Given the description of an element on the screen output the (x, y) to click on. 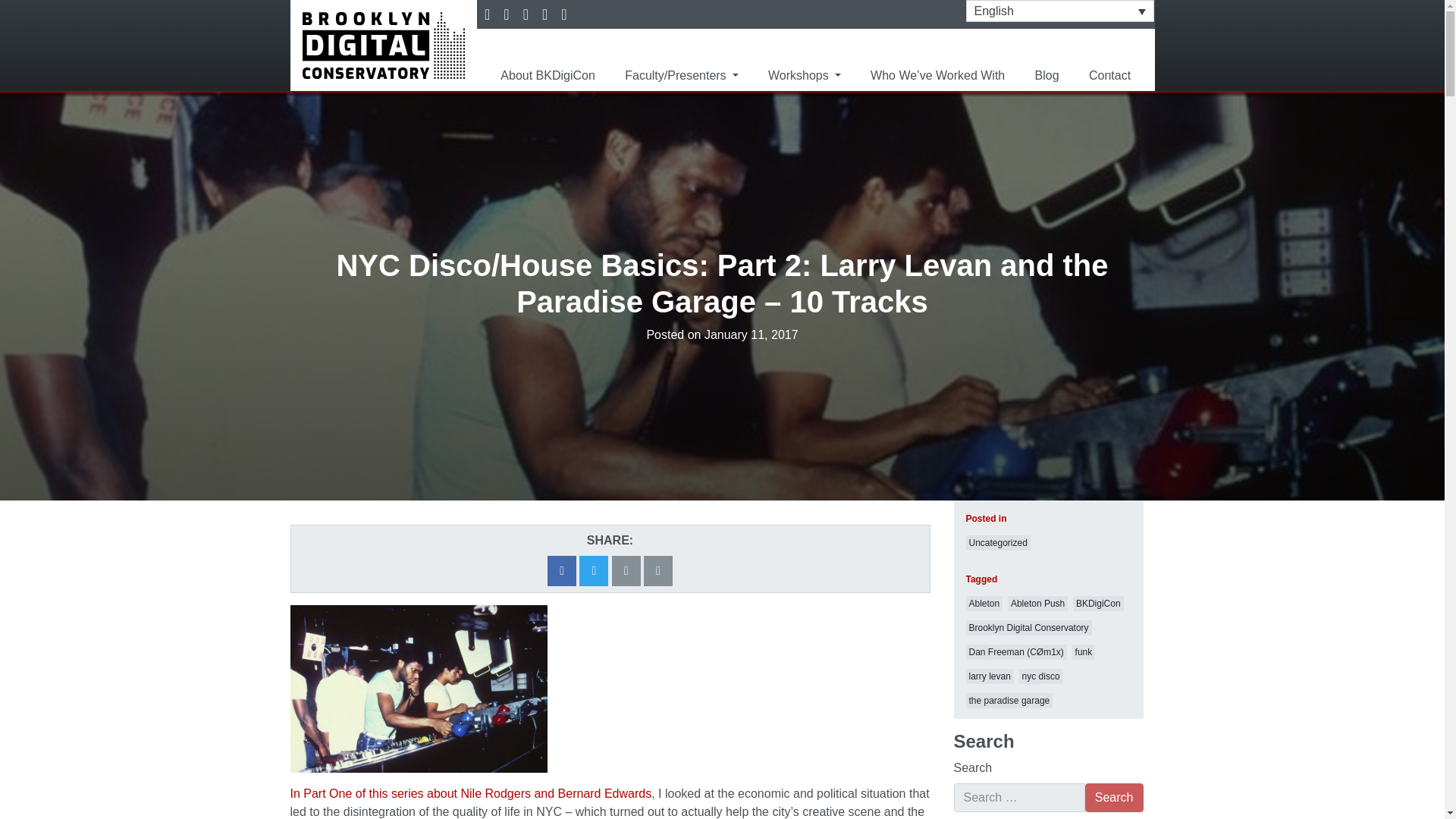
Workshops (804, 75)
About BKDigiCon (548, 75)
Search (1113, 797)
About BKDigiCon (548, 75)
Uncategorized (998, 542)
Ableton (984, 603)
Ableton Push (1037, 603)
Blog (1047, 75)
Contact (1110, 75)
English (1060, 11)
